Given the description of an element on the screen output the (x, y) to click on. 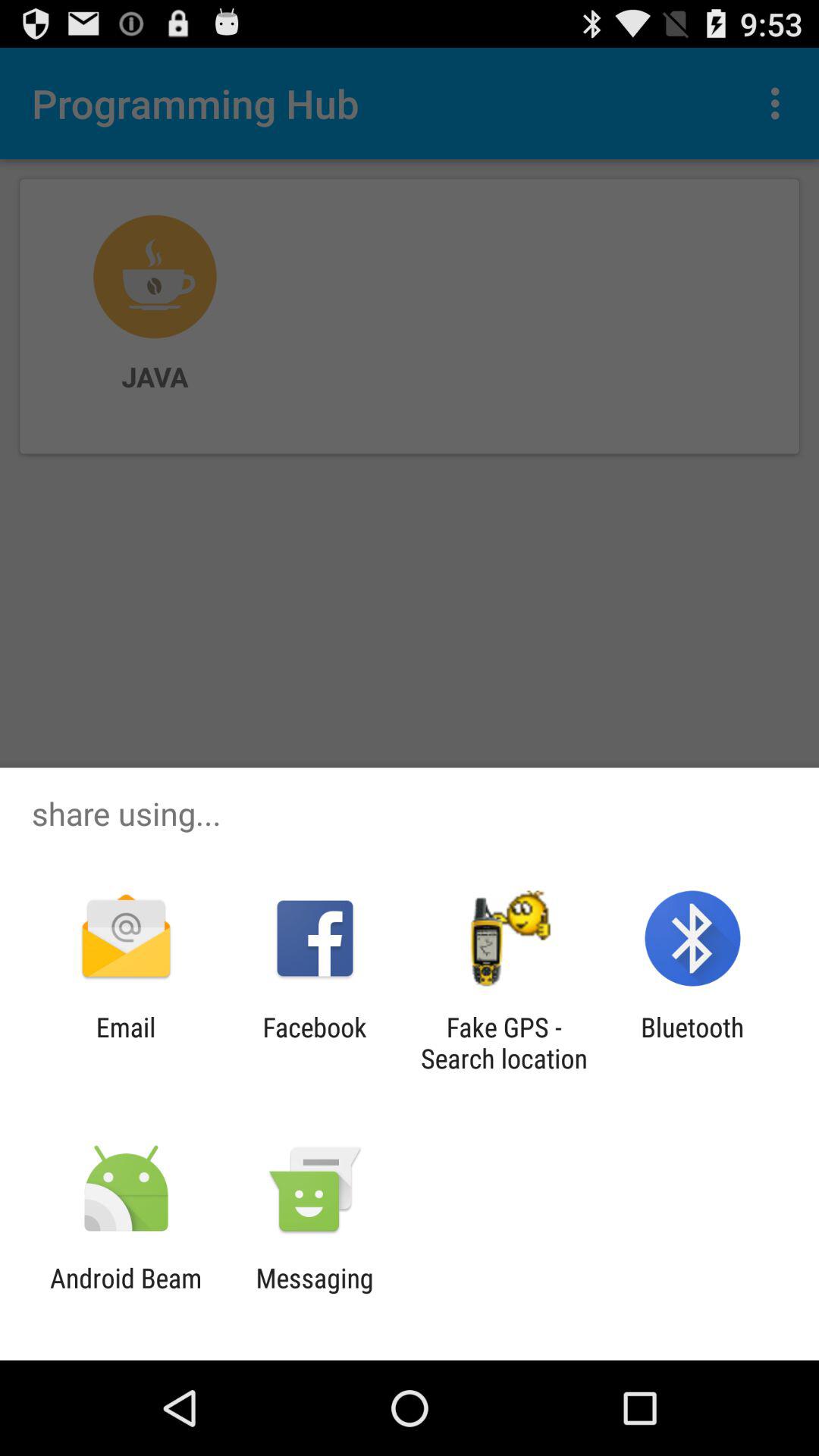
swipe to messaging icon (314, 1293)
